Given the description of an element on the screen output the (x, y) to click on. 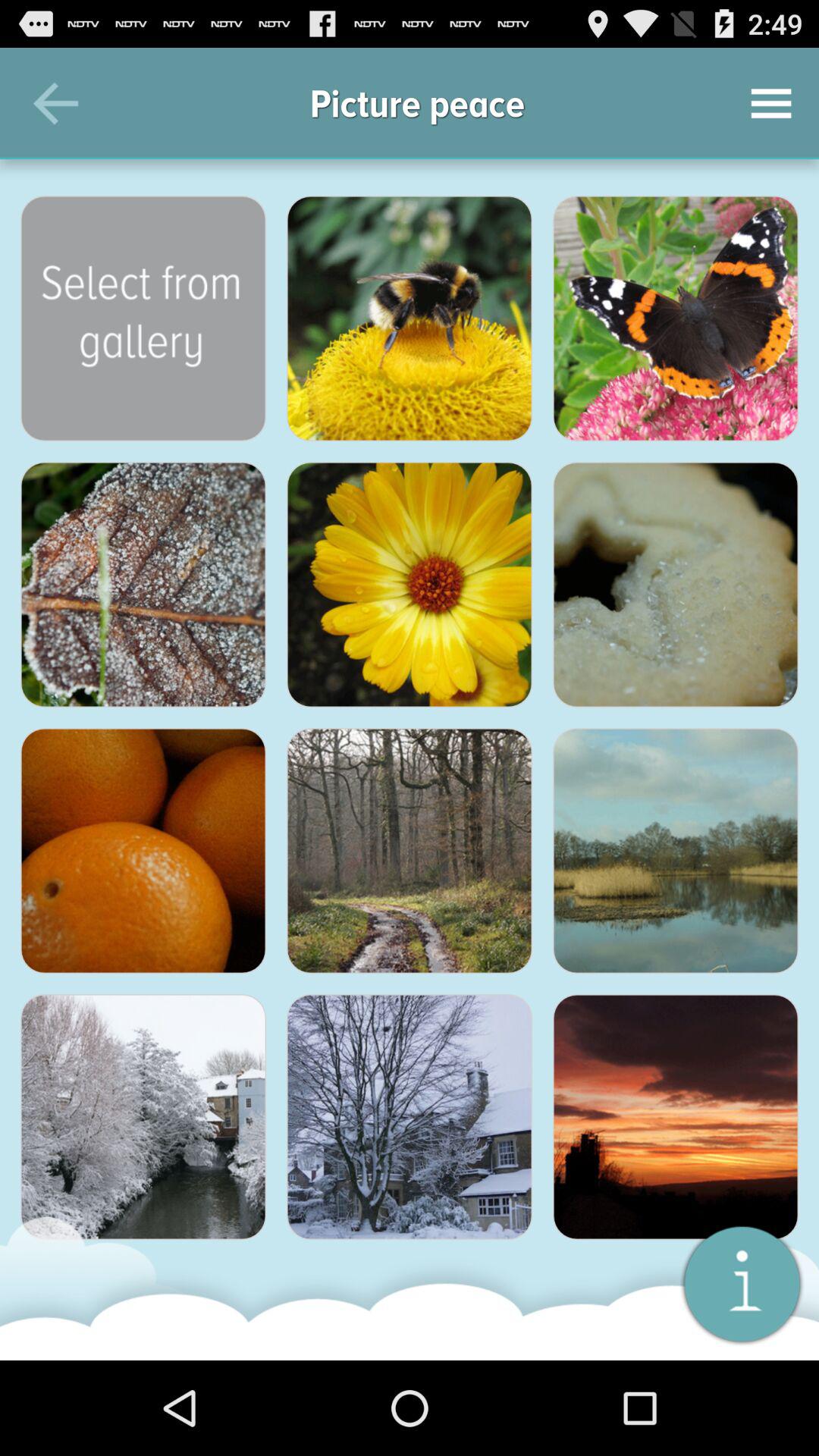
select to picture (675, 850)
